Given the description of an element on the screen output the (x, y) to click on. 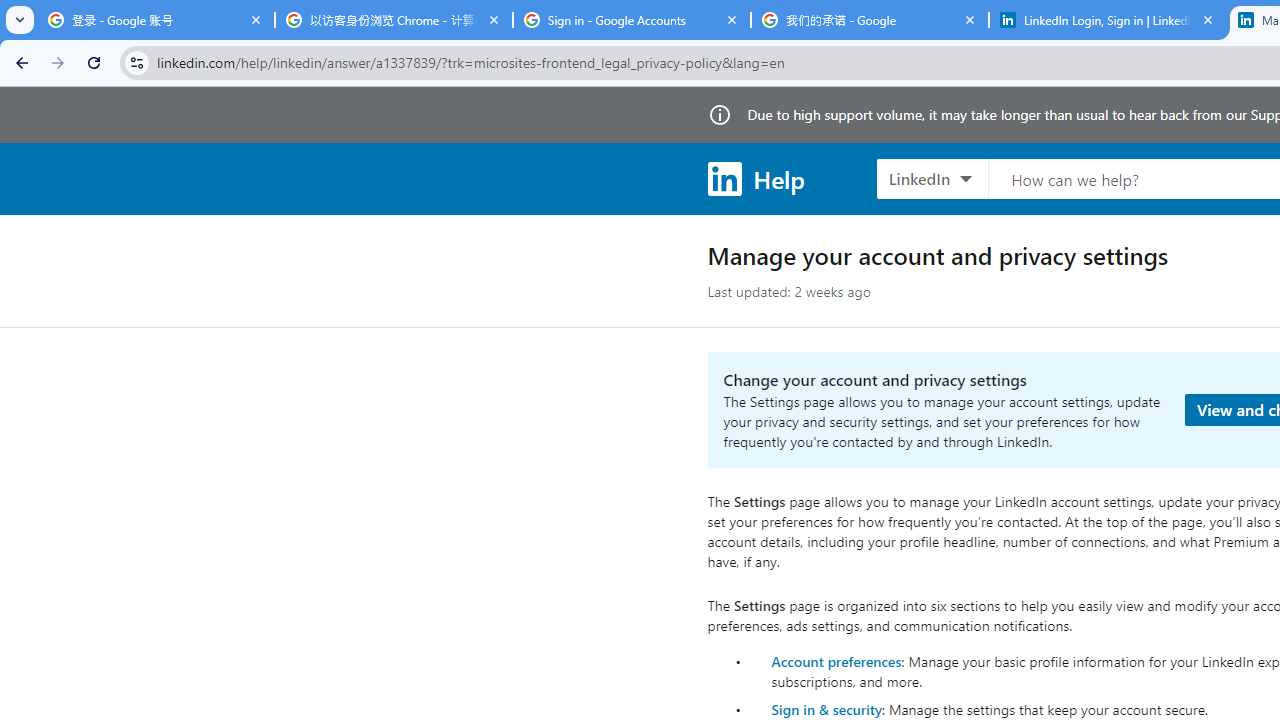
Sign in & security (826, 709)
LinkedIn products to search, LinkedIn selected (932, 178)
LinkedIn Login, Sign in | LinkedIn (1108, 20)
Account preferences (836, 660)
